Given the description of an element on the screen output the (x, y) to click on. 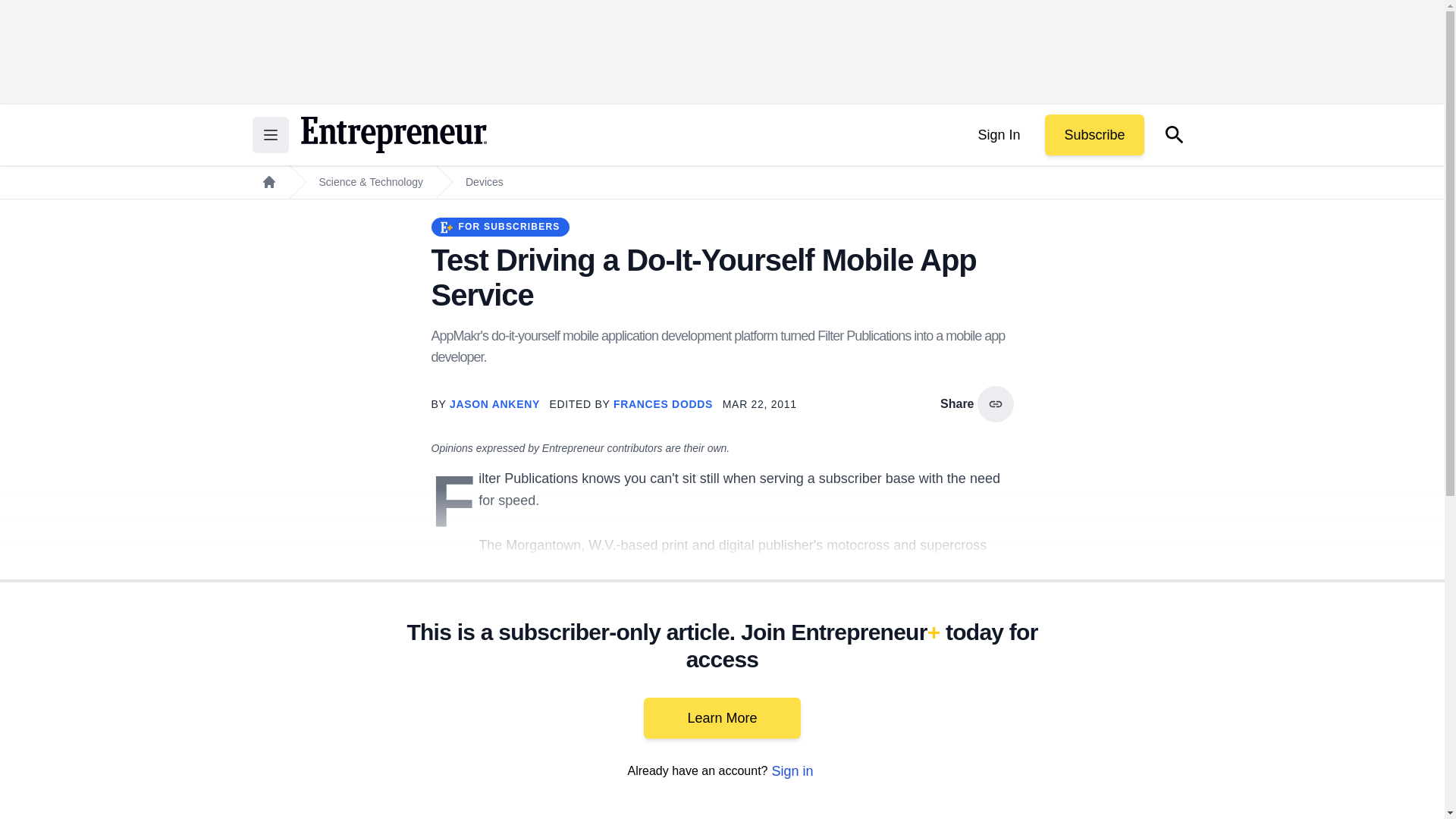
Return to the home page (392, 135)
Subscribe (1093, 134)
Sign In (998, 134)
copy (994, 403)
